Given the description of an element on the screen output the (x, y) to click on. 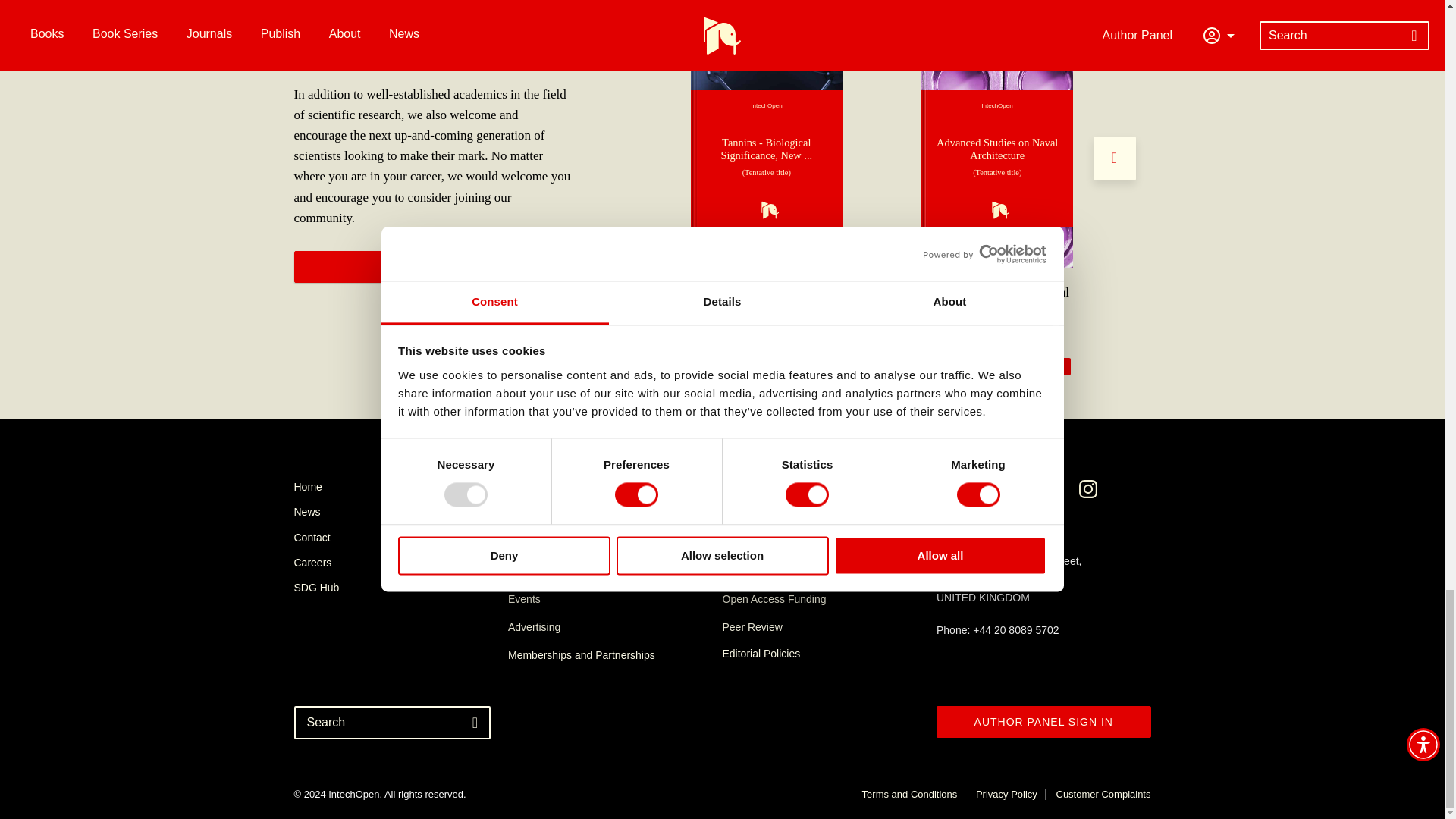
IntechOpen (997, 158)
IntechOpen (766, 158)
